Given the description of an element on the screen output the (x, y) to click on. 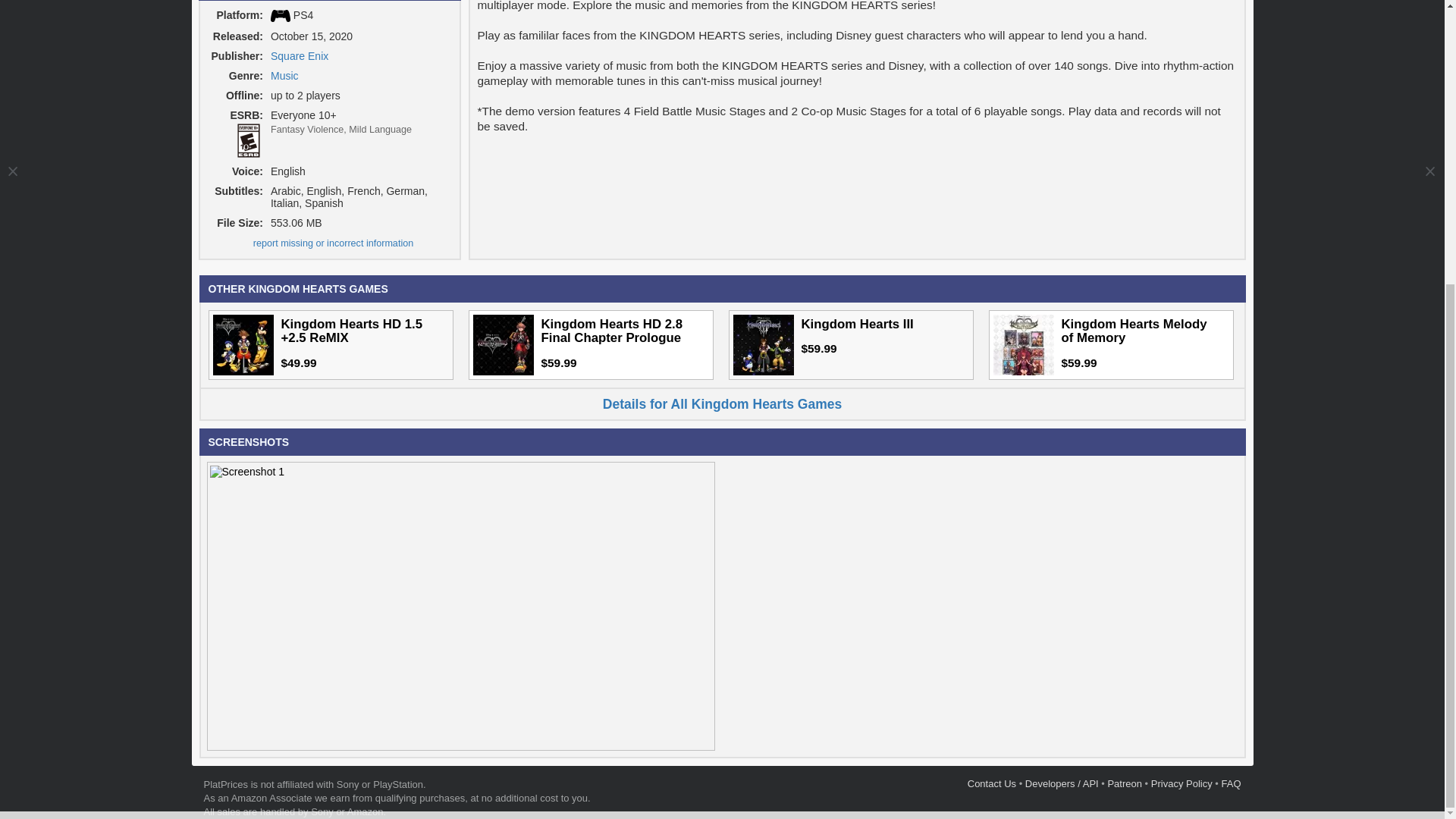
Kingdom Hearts HD 2.8 Final Chapter Prologue (503, 344)
Screenshot 1 (246, 471)
Kingdom Hearts III (762, 344)
Kingdom Hearts Melody of Memory (1023, 344)
